Given the description of an element on the screen output the (x, y) to click on. 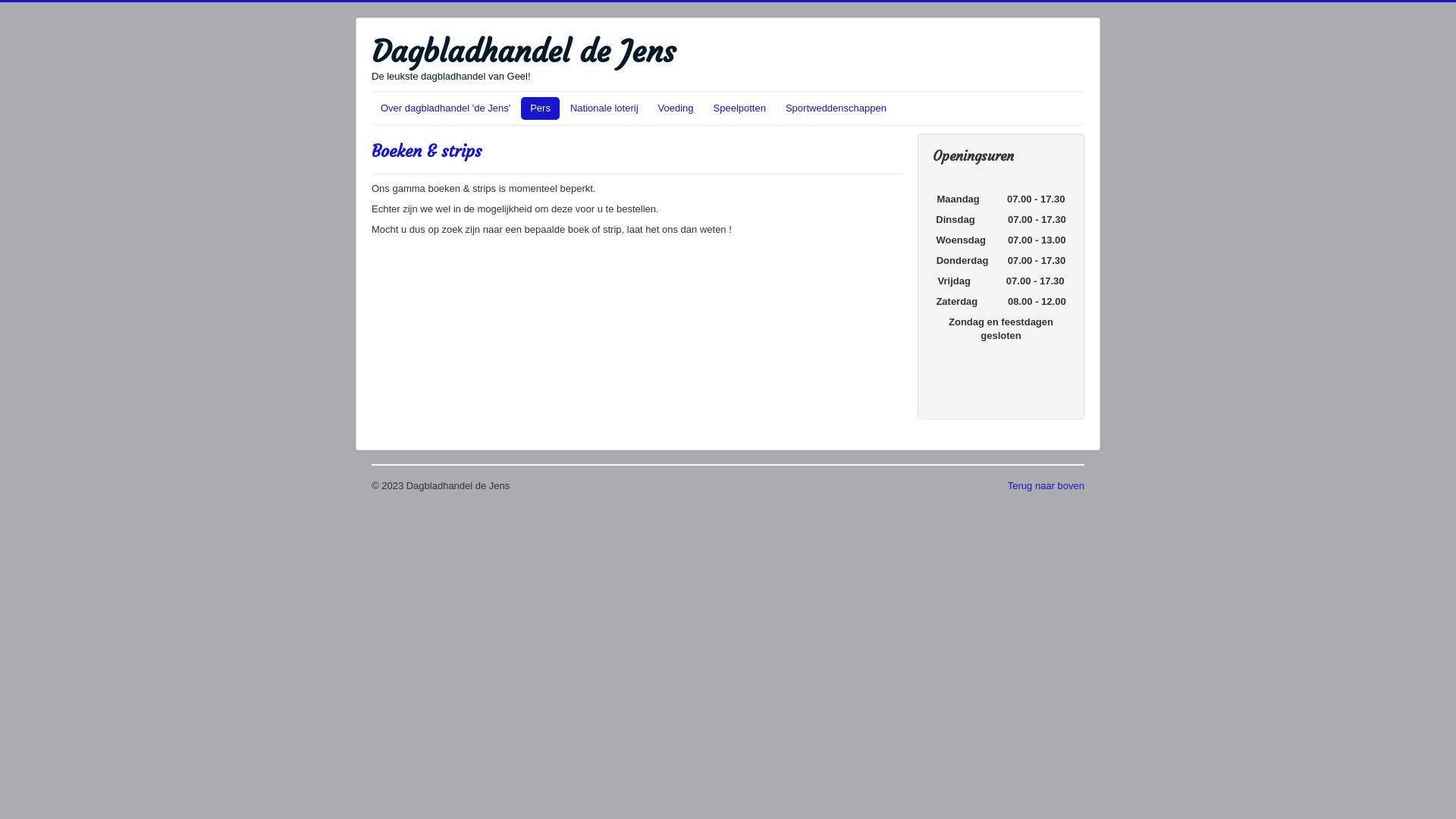
Over dagbladhandel 'de Jens' Element type: text (445, 108)
Dagbladhandel de Jens
De leukste dagbladhandel van Geel! Element type: text (523, 58)
Sportweddenschappen Element type: text (835, 108)
Pers Element type: text (539, 108)
Nationale loterij Element type: text (604, 108)
Speelpotten Element type: text (739, 108)
Boeken & strips Element type: text (426, 151)
Voeding Element type: text (675, 108)
Terug naar boven Element type: text (1045, 485)
